Given the description of an element on the screen output the (x, y) to click on. 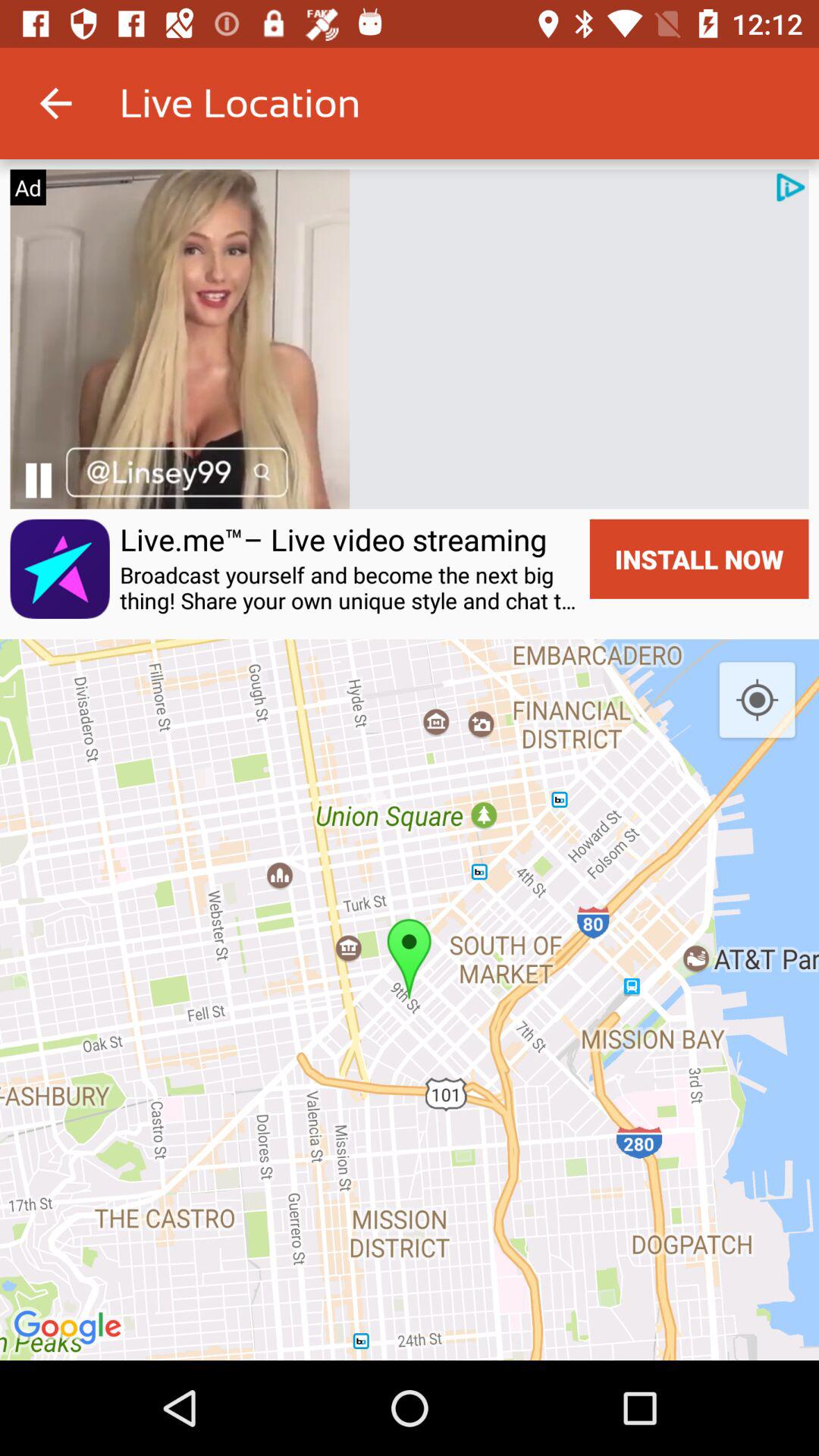
select icon next to install now icon (349, 587)
